Given the description of an element on the screen output the (x, y) to click on. 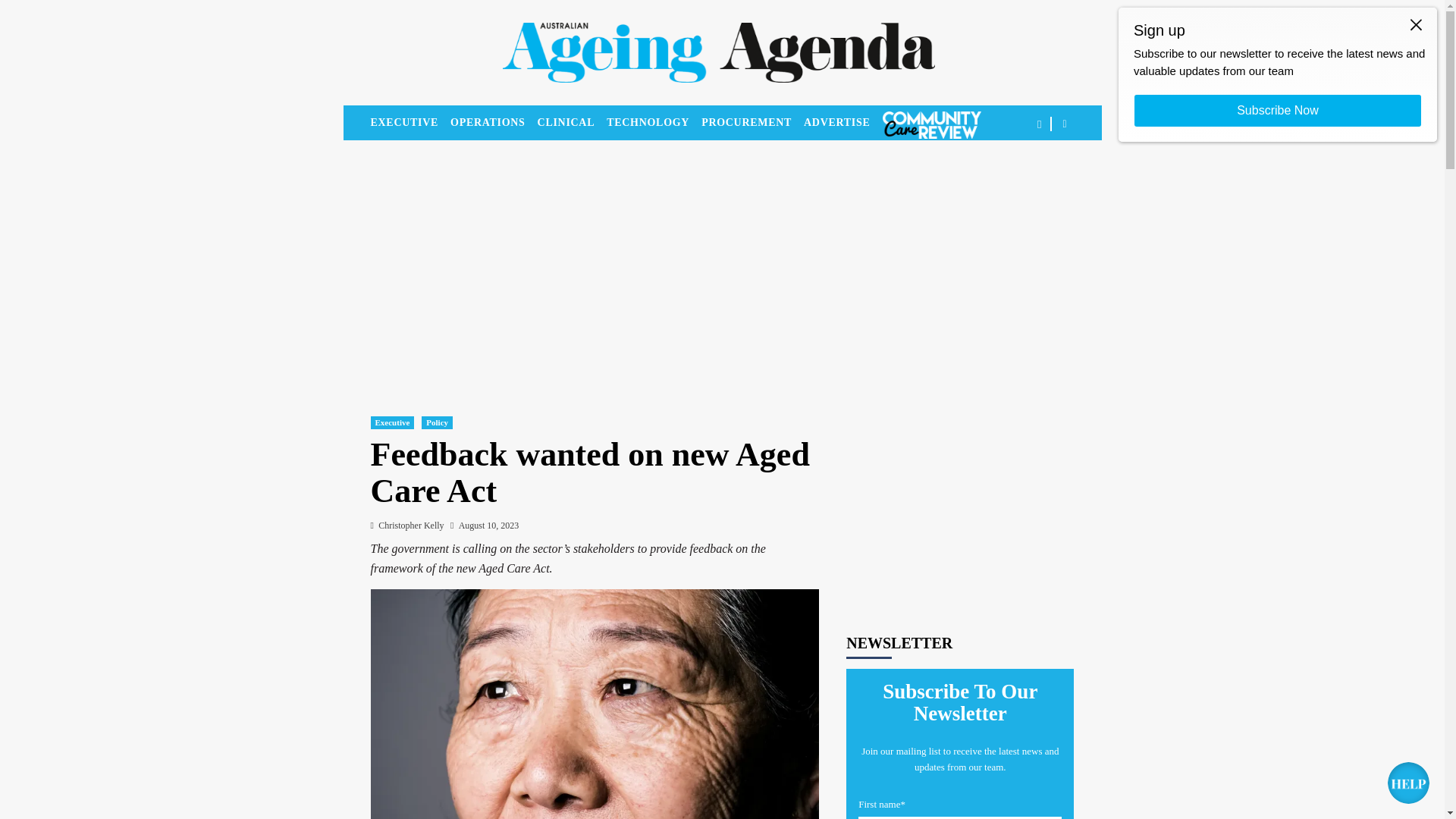
CLINICAL (572, 122)
PROCUREMENT (752, 122)
Executive (391, 422)
Christopher Kelly (411, 525)
TECHNOLOGY (654, 122)
Search (1028, 170)
OPERATIONS (493, 122)
ADVERTISE (842, 122)
August 10, 2023 (488, 525)
Policy (437, 422)
3rd party ad content (959, 495)
EXECUTIVE (409, 122)
COMMUNITY CARE REVIEW (931, 124)
